Given the description of an element on the screen output the (x, y) to click on. 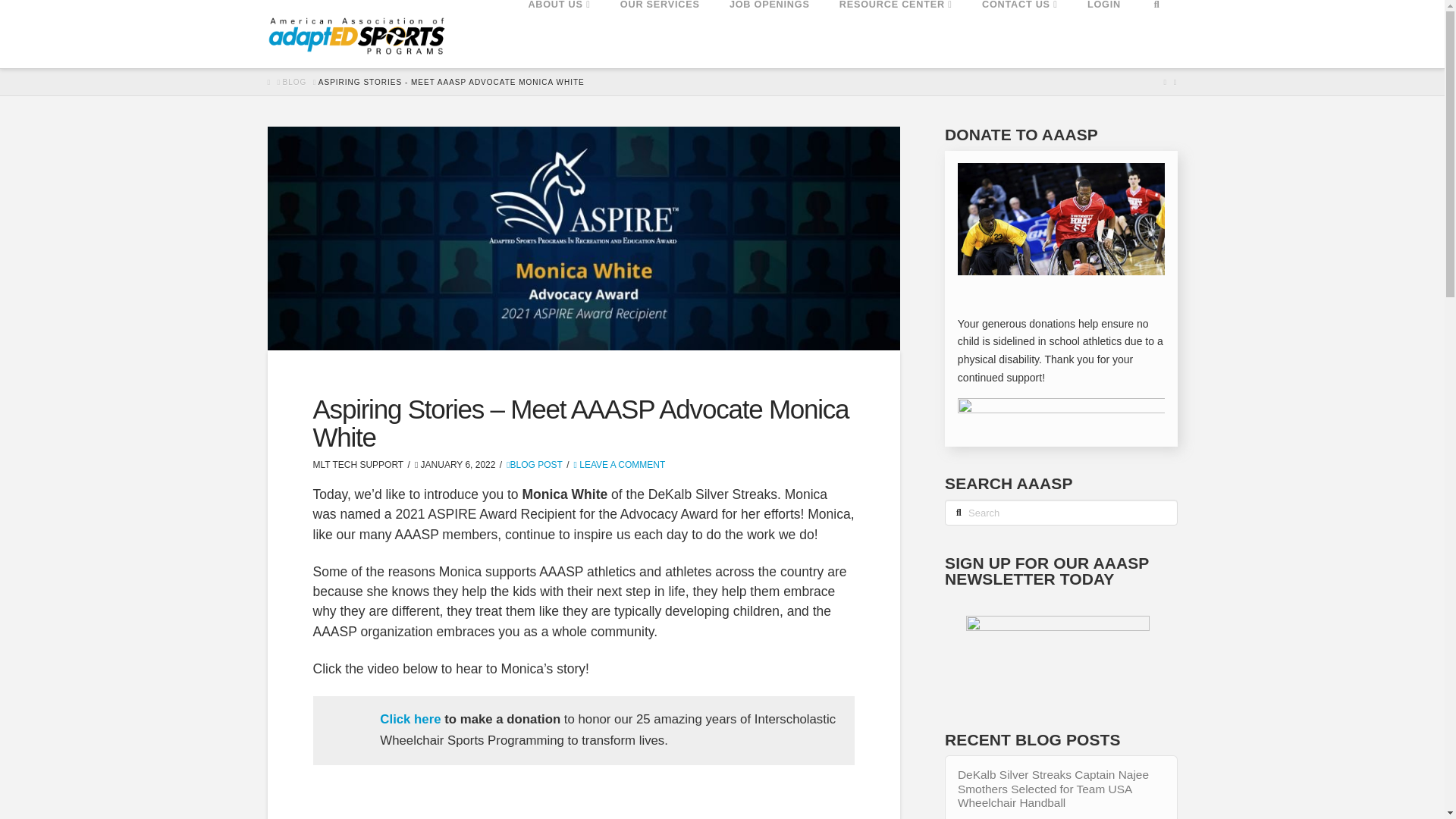
You Are Here (451, 81)
JOB OPENINGS (769, 33)
LOGIN (1103, 33)
ABOUT US (558, 33)
OUR SERVICES (659, 33)
RESOURCE CENTER (895, 33)
YouTube video player (583, 811)
CONTACT US (1018, 33)
